Given the description of an element on the screen output the (x, y) to click on. 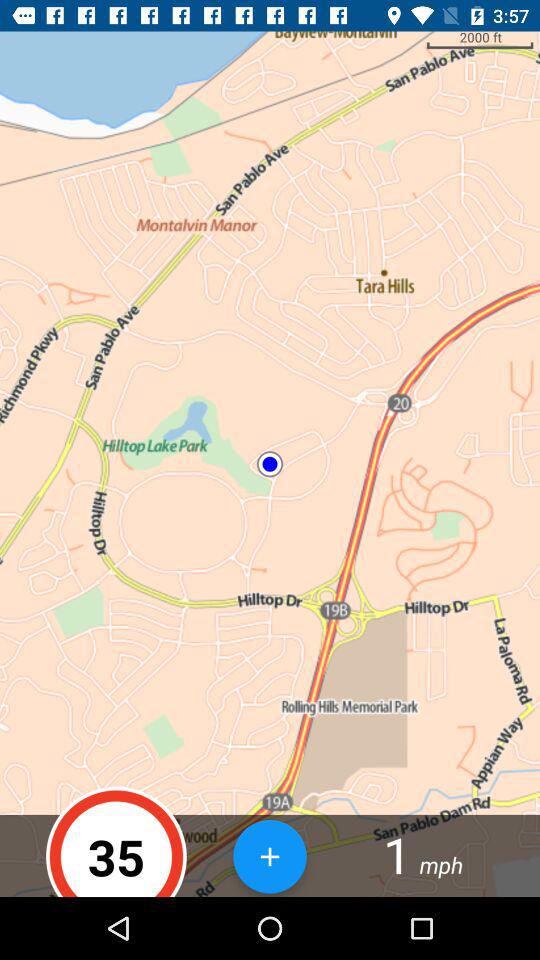
new route (269, 856)
